Given the description of an element on the screen output the (x, y) to click on. 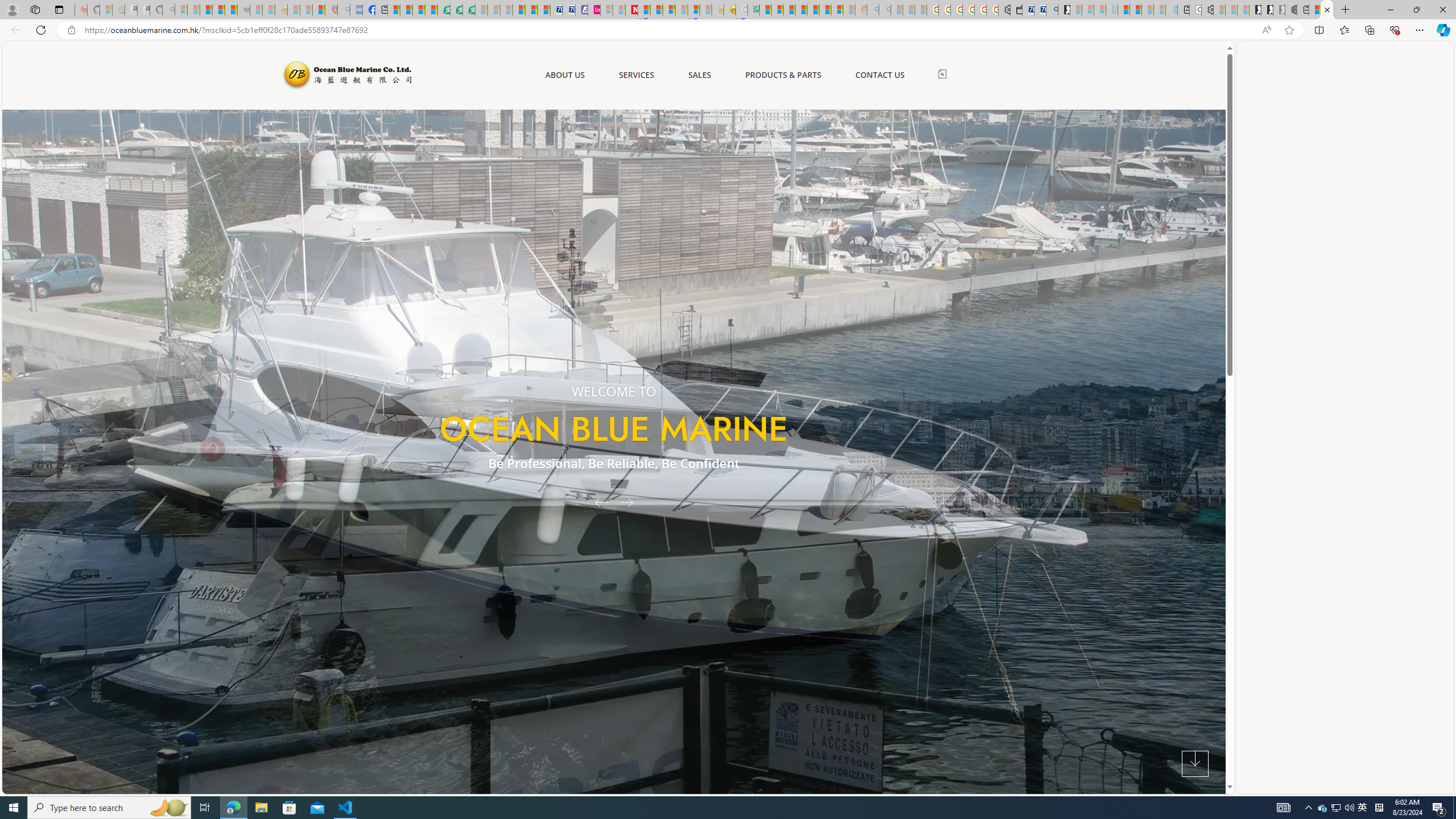
Local - MSN (318, 9)
Aberdeen, Hong Kong SAR hourly forecast | Microsoft Weather (1315, 9)
Ocean Blue Marine (345, 74)
Ocean Blue Marine (345, 74)
